Given the description of an element on the screen output the (x, y) to click on. 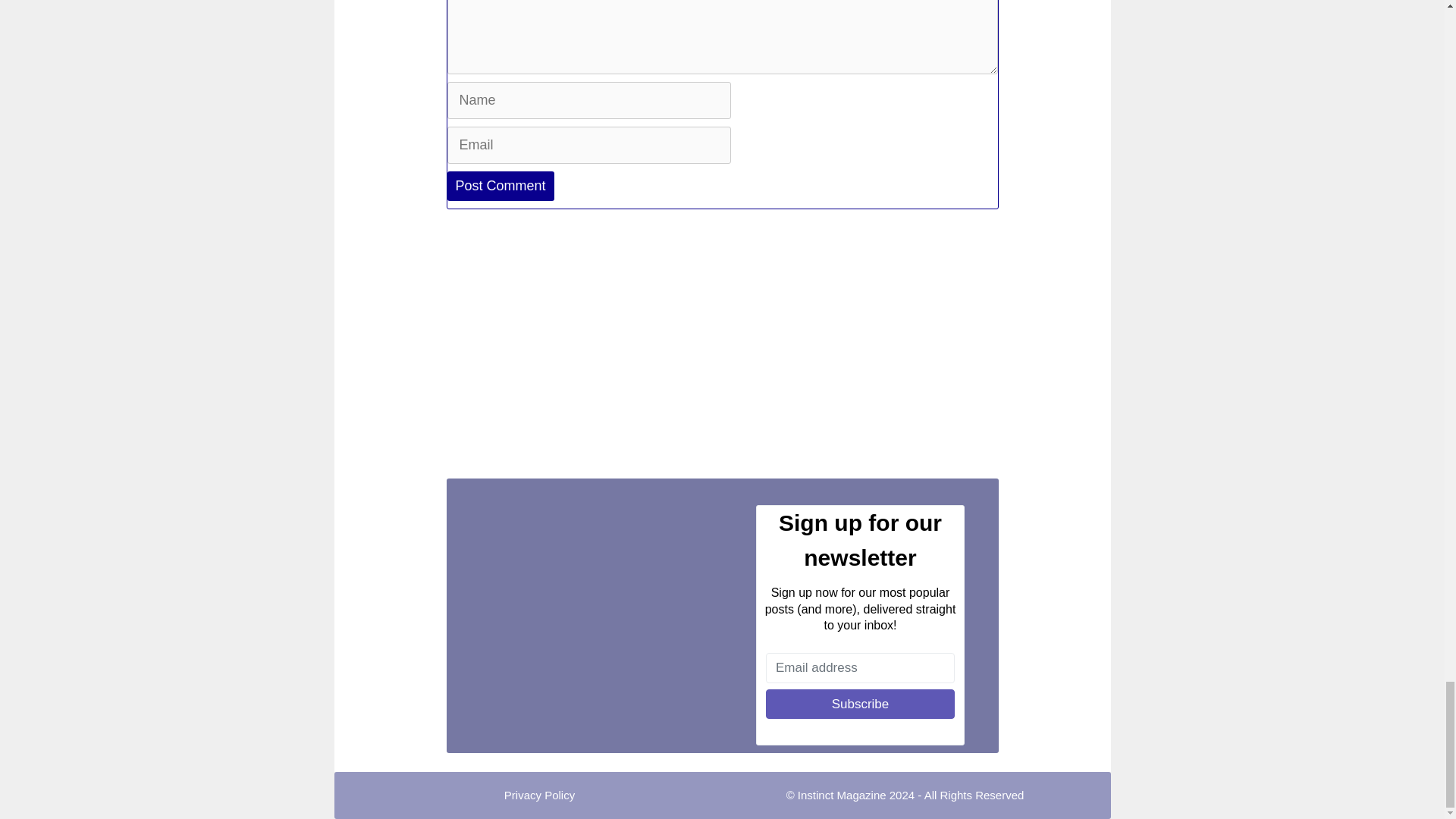
Post Comment (500, 185)
Subscribe (860, 704)
